Given the description of an element on the screen output the (x, y) to click on. 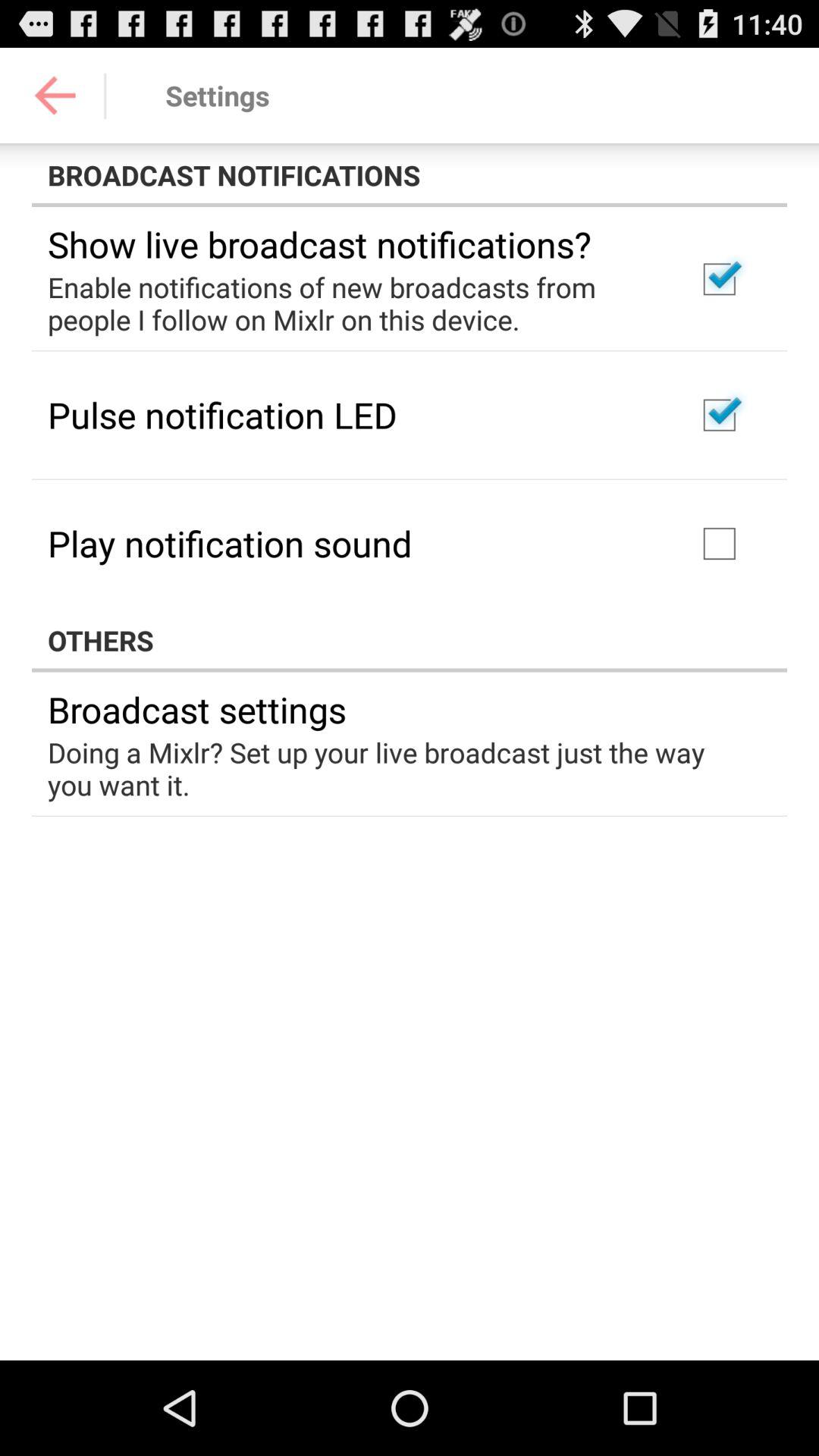
tap the icon above pulse notification led item (351, 303)
